Given the description of an element on the screen output the (x, y) to click on. 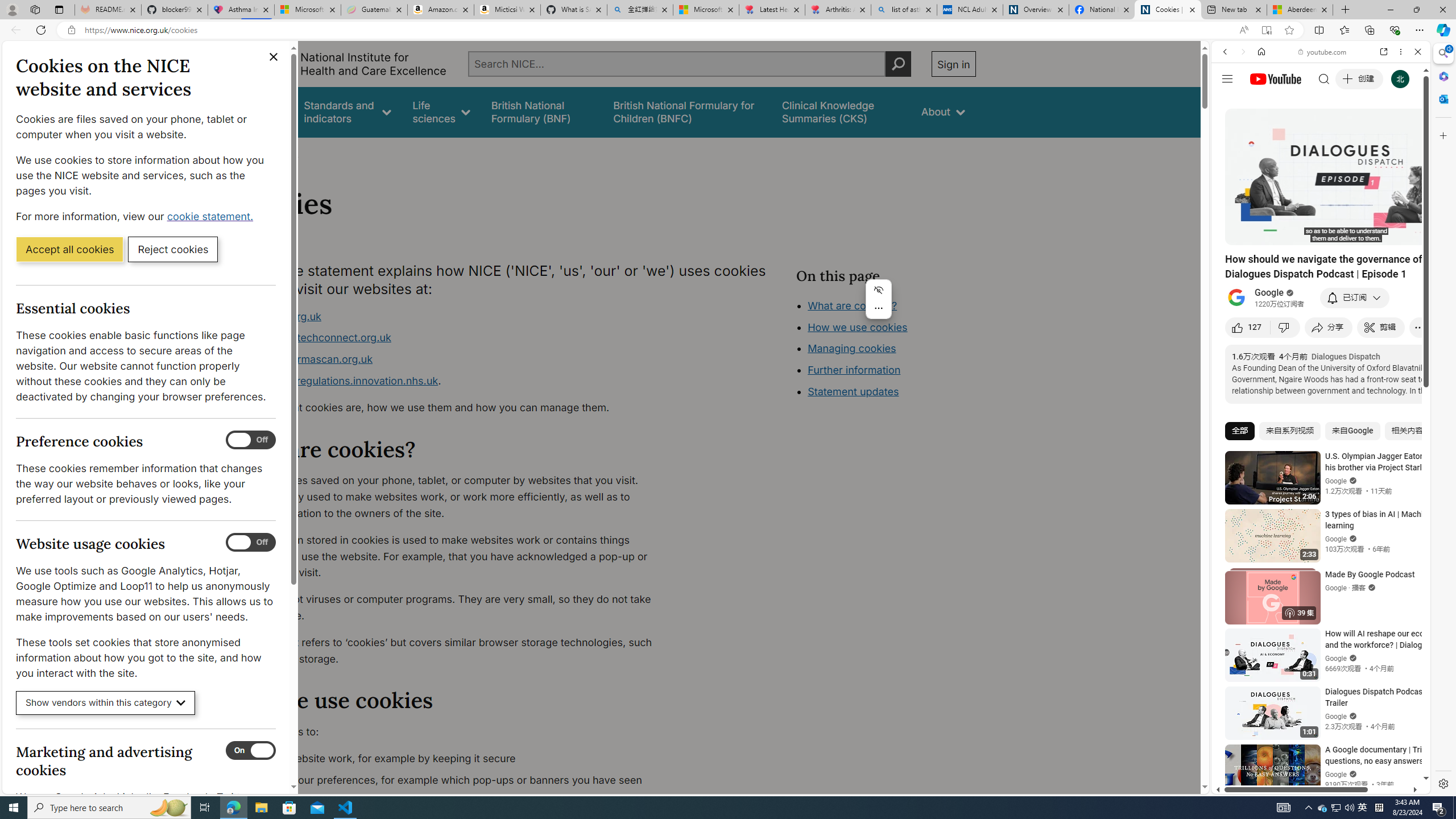
Further information (854, 369)
www.ukpharmascan.org.uk (305, 359)
Hide menu (878, 289)
More actions (878, 307)
Dialogues Dispatch (1345, 356)
